Given the description of an element on the screen output the (x, y) to click on. 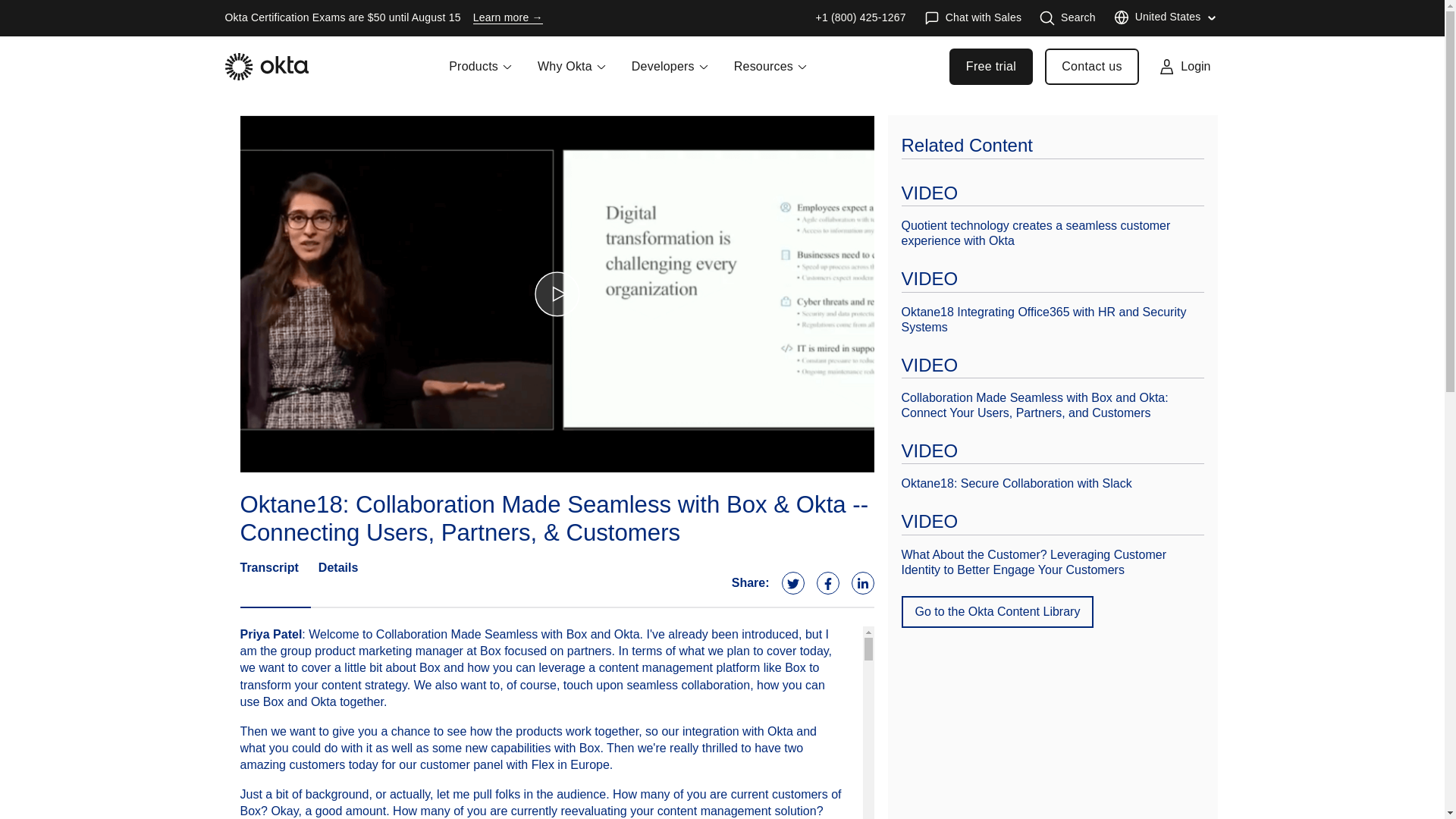
Chat with Sales (973, 18)
Search (1067, 18)
Products (480, 76)
Why Okta (572, 76)
Learn more (508, 17)
